Given the description of an element on the screen output the (x, y) to click on. 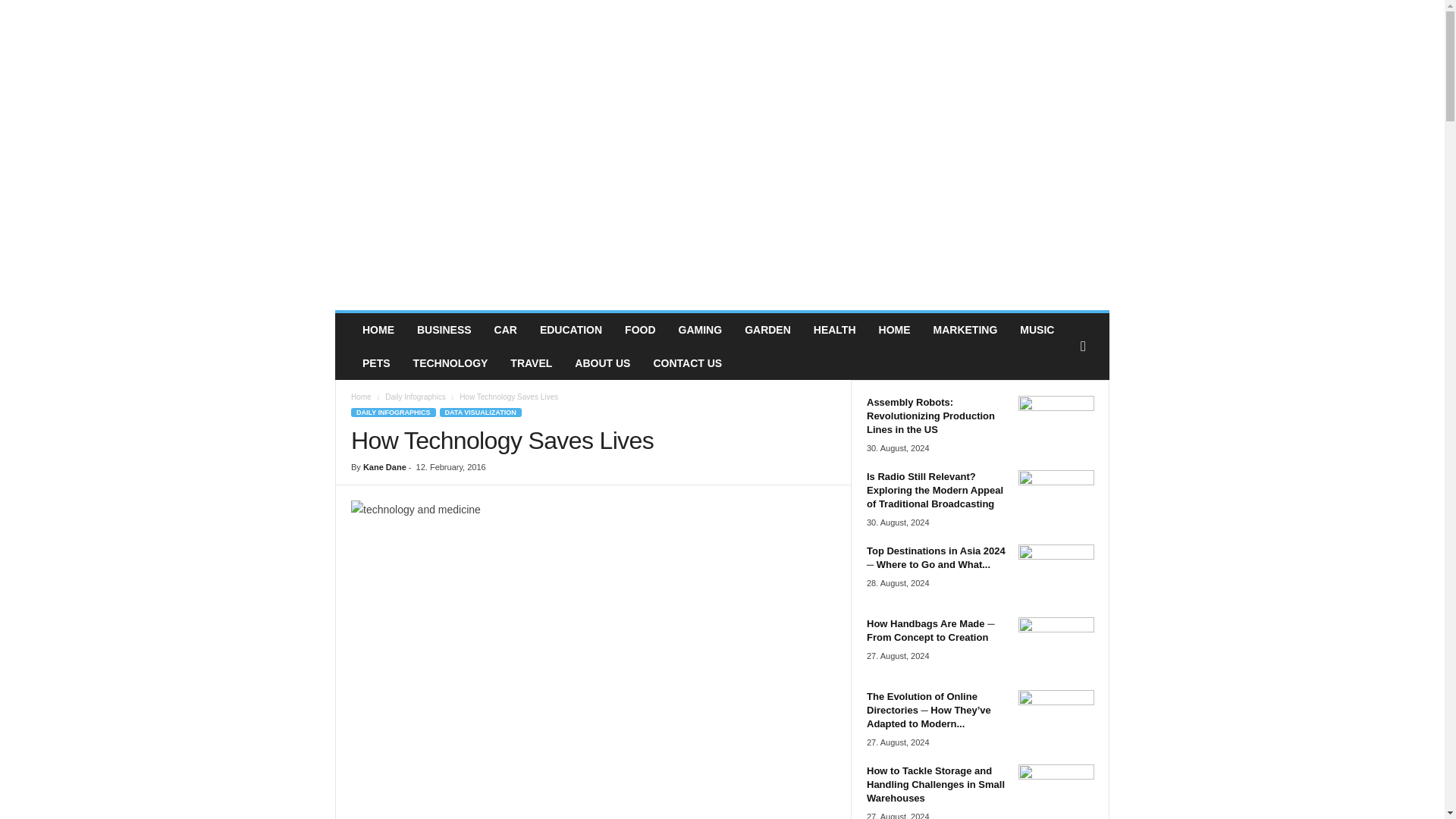
TRAVEL (531, 363)
FOOD (639, 329)
MUSIC (1037, 329)
PETS (375, 363)
Home (360, 397)
TECHNOLOGY (450, 363)
HOME (894, 329)
View all posts in Daily Infographics (415, 397)
